Given the description of an element on the screen output the (x, y) to click on. 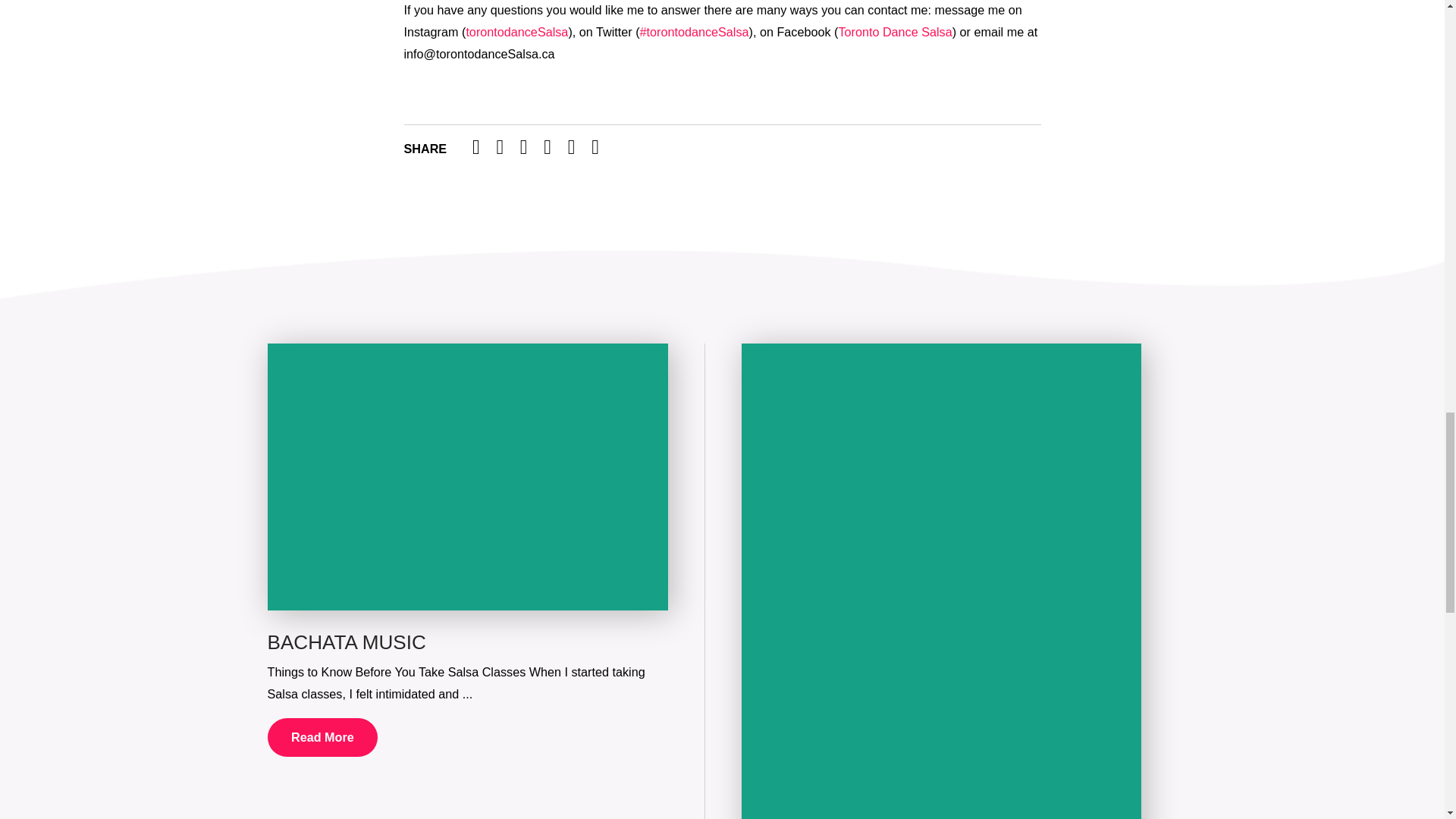
Read More (321, 737)
Permalink to: "Bachata Music" (466, 476)
Toronto Dance Salsa (895, 31)
BACHATA MUSIC (345, 641)
Permalink to: "Bachata Music" (345, 641)
torontodanceSalsa (516, 31)
